Given the description of an element on the screen output the (x, y) to click on. 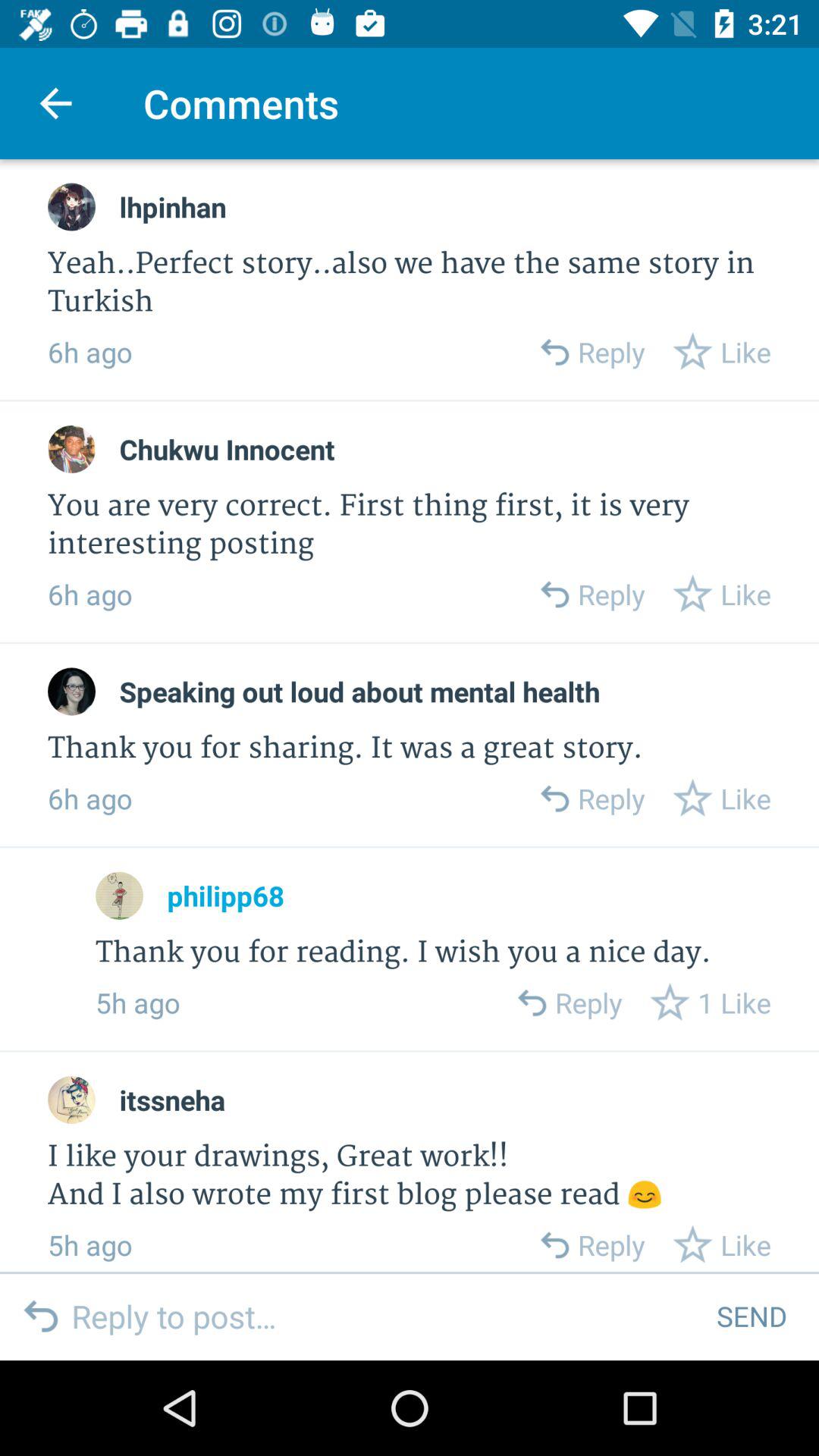
select to reply (553, 1244)
